Given the description of an element on the screen output the (x, y) to click on. 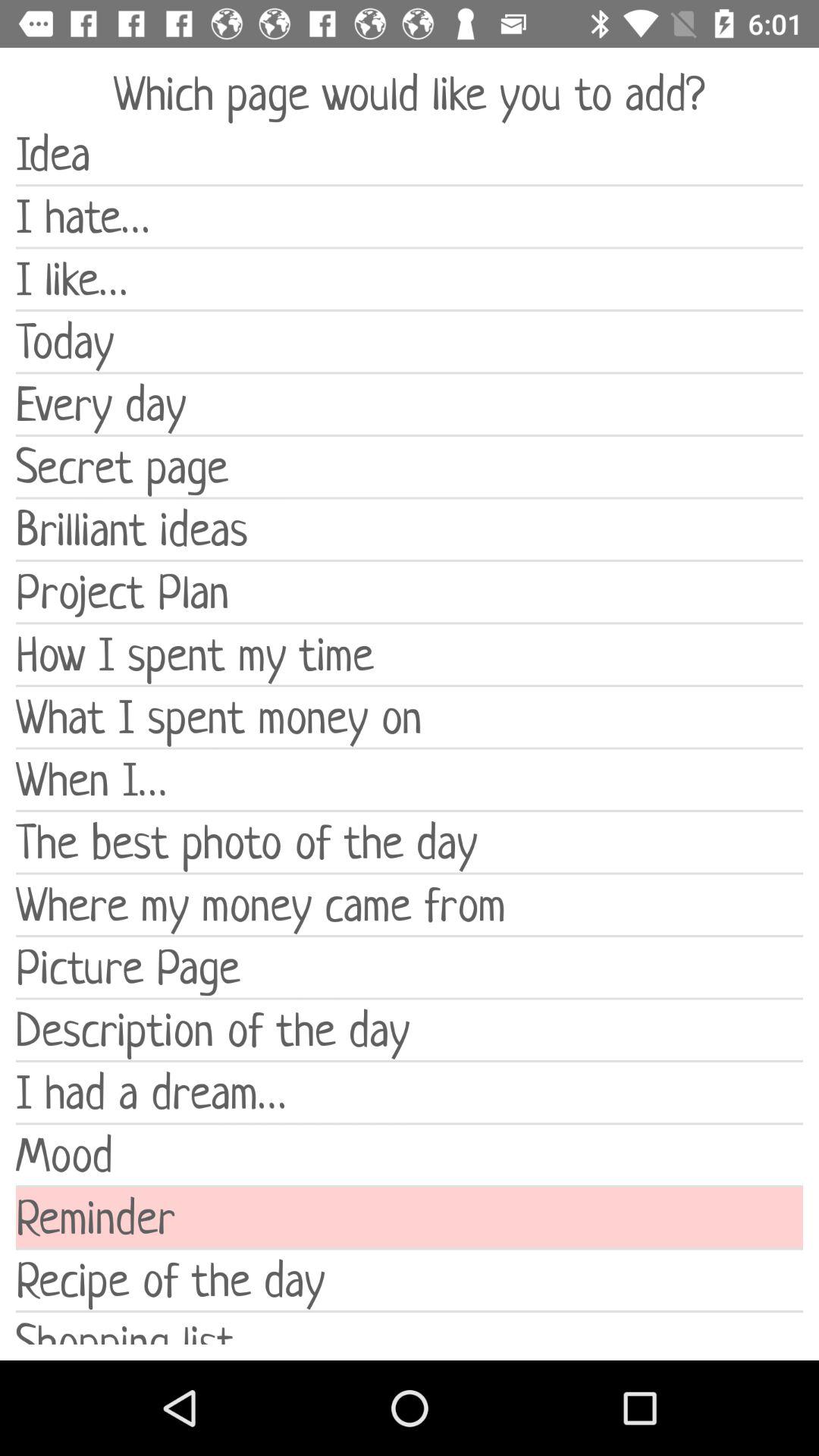
click item below the which page would item (409, 153)
